Given the description of an element on the screen output the (x, y) to click on. 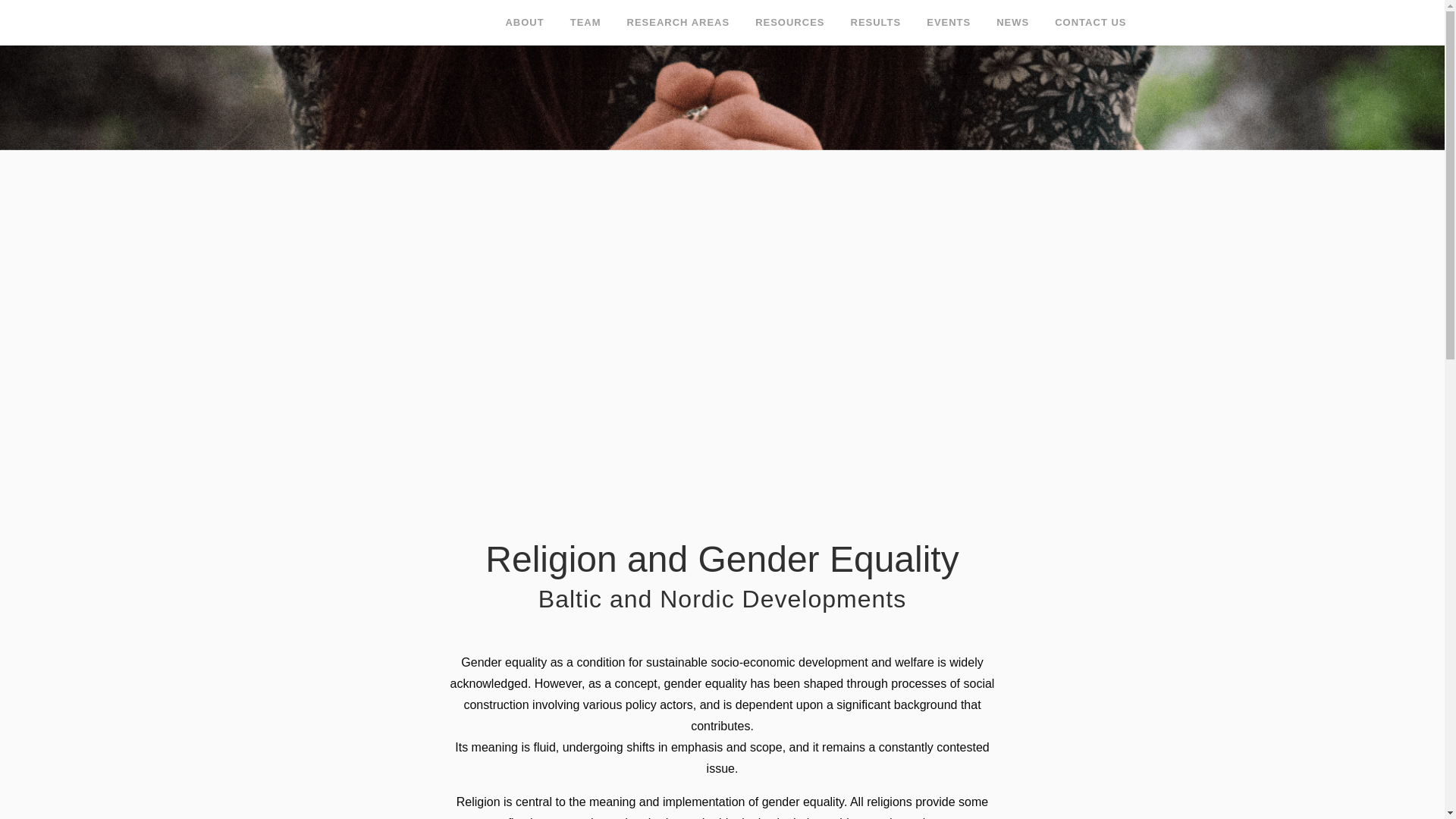
NEWS (1013, 22)
TEAM (585, 22)
EVENTS (949, 22)
RESULTS (875, 22)
CONTACT US (1090, 22)
ABOUT (524, 22)
RESEARCH AREAS (678, 22)
RESOURCES (789, 22)
